Given the description of an element on the screen output the (x, y) to click on. 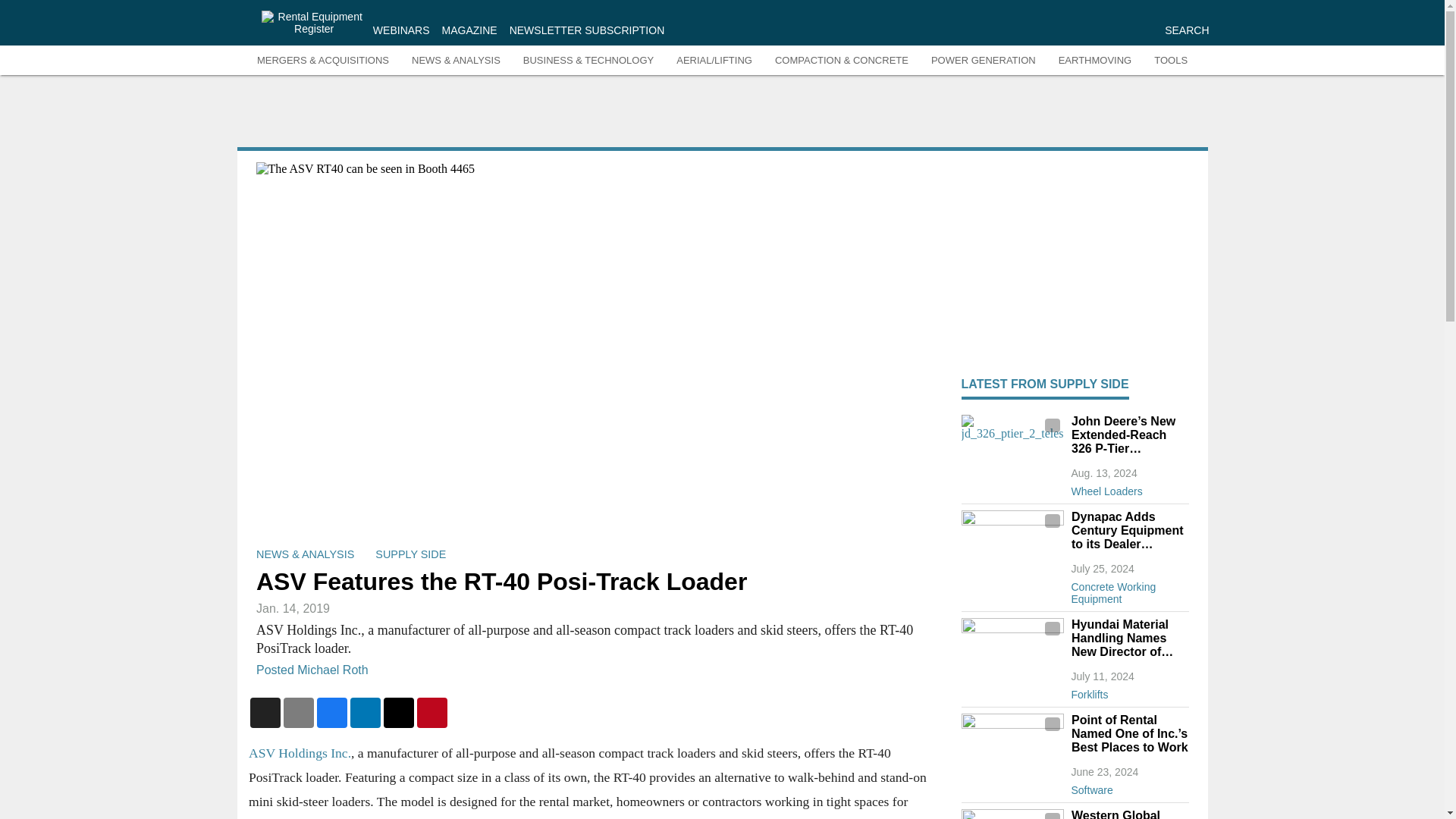
MAGAZINE (469, 30)
EARTHMOVING (1095, 60)
TOOLS (1171, 60)
POWER GENERATION (983, 60)
SUPPLY SIDE (410, 553)
Posted Michael Roth (312, 669)
SEARCH (1186, 30)
WEBINARS (400, 30)
